Given the description of an element on the screen output the (x, y) to click on. 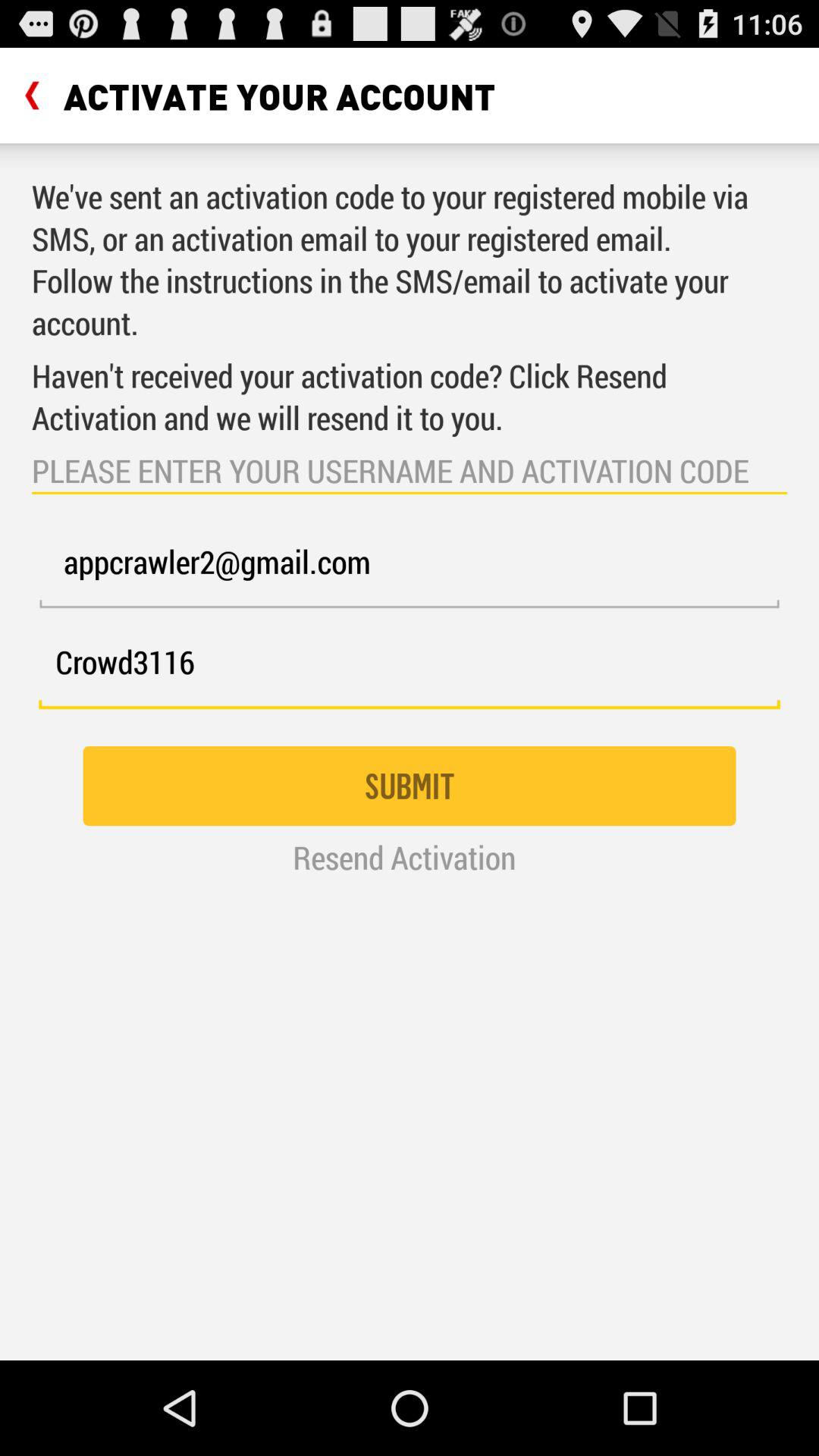
click the crowd3116 (409, 671)
